Given the description of an element on the screen output the (x, y) to click on. 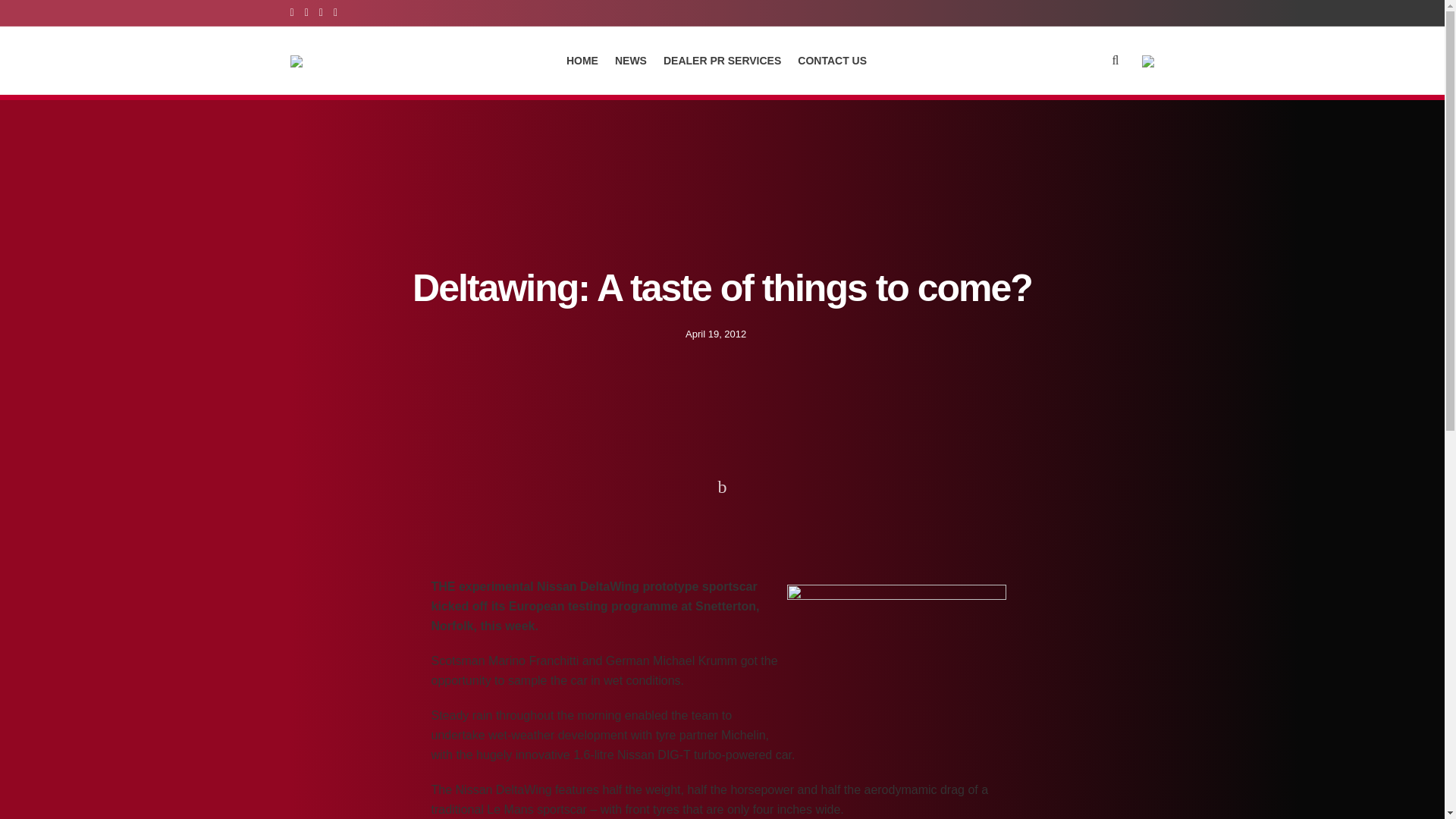
DEALER PR SERVICES (721, 60)
Nissan GB News (361, 523)
CONTACT US (831, 60)
HOME (582, 60)
NEWS (630, 60)
Home (301, 523)
April 19, 2012 (715, 333)
